Given the description of an element on the screen output the (x, y) to click on. 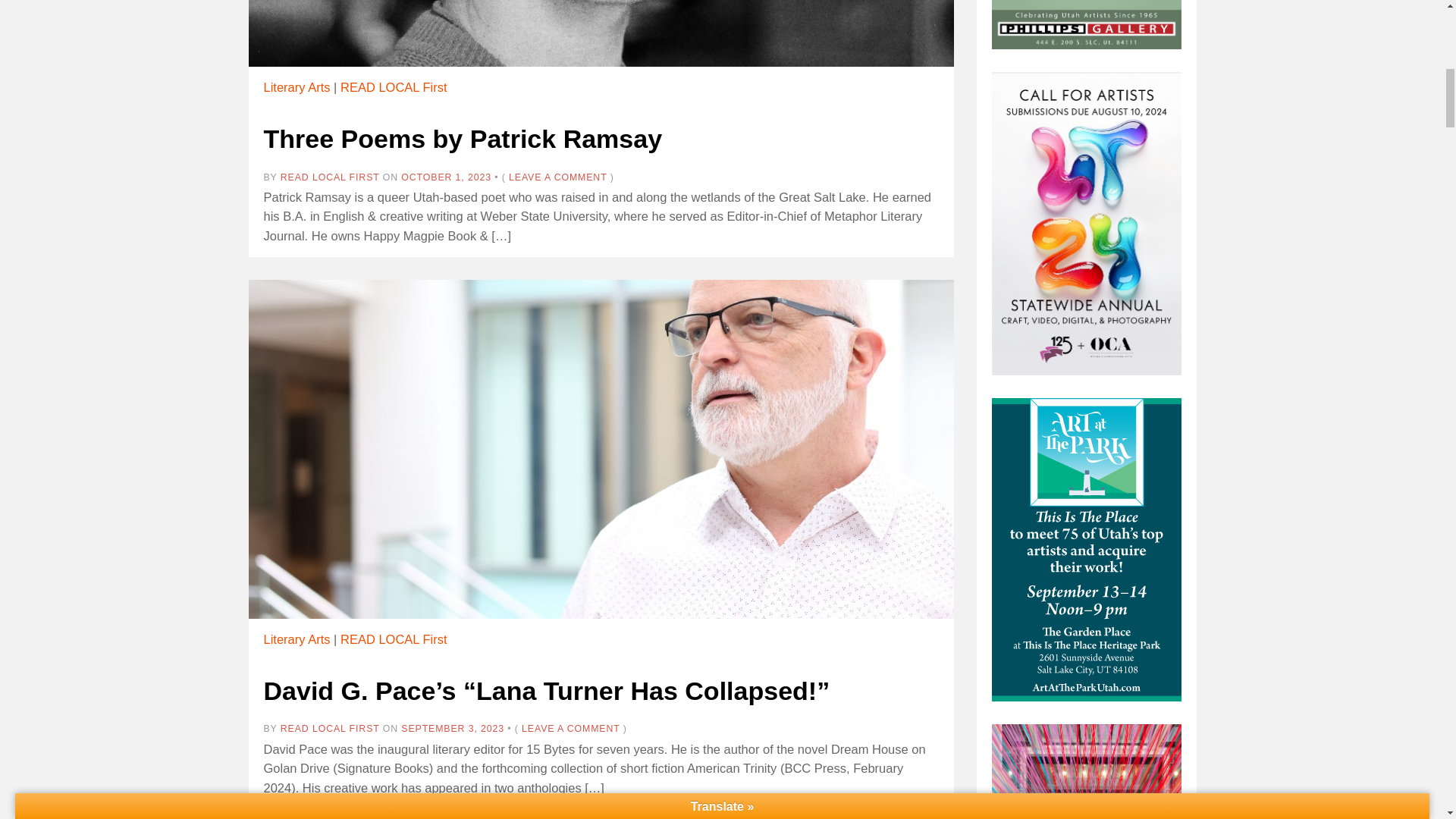
Three Poems by Patrick Ramsay (462, 138)
Literary Arts (296, 87)
READ LOCAL FIRST (330, 176)
READ LOCAL First (393, 87)
OCTOBER 1, 2023 (446, 176)
LEAVE A COMMENT (557, 176)
